Given the description of an element on the screen output the (x, y) to click on. 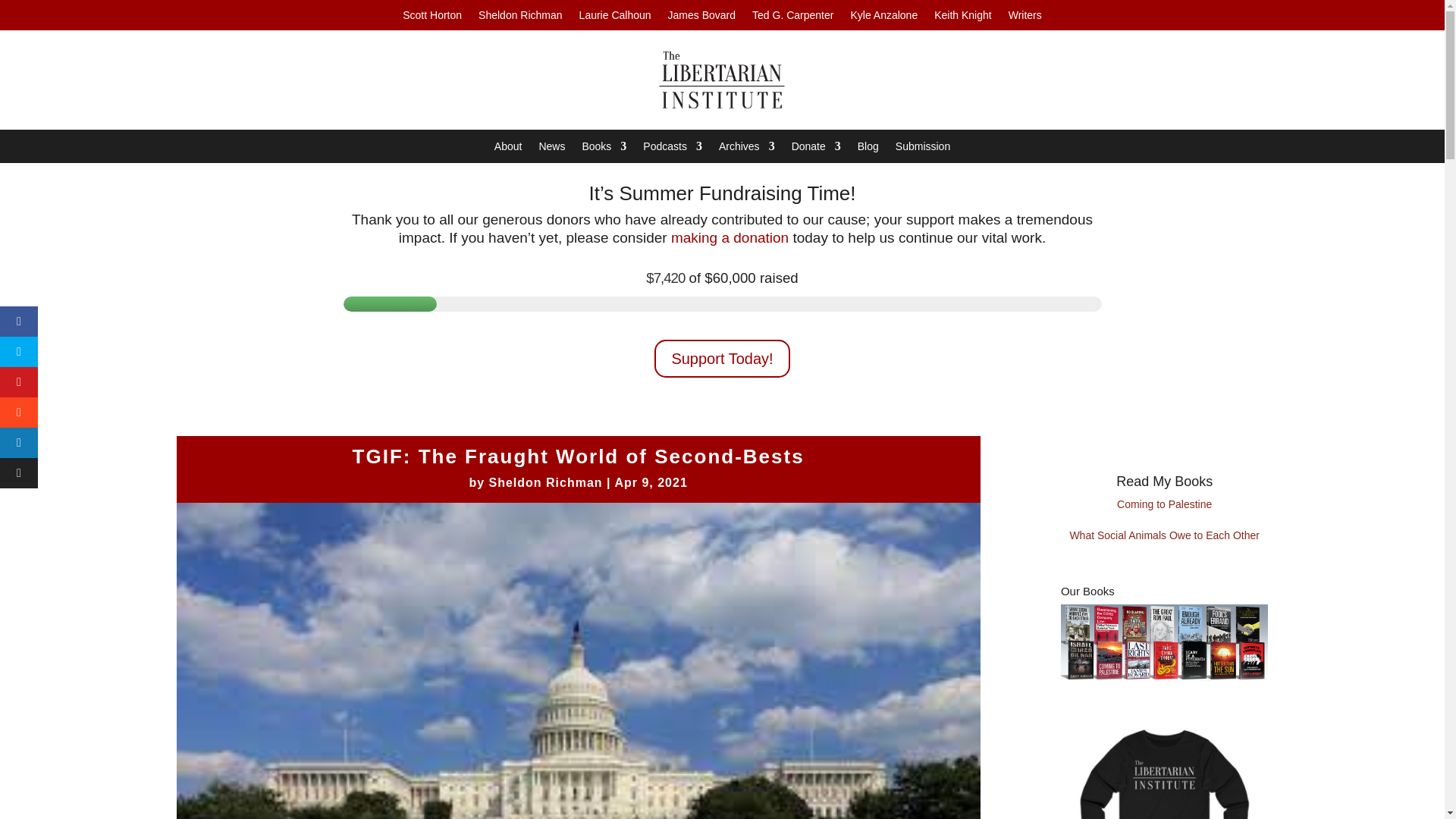
Writers (1025, 17)
Kyle Anzalone (883, 17)
Ted G. Carpenter (792, 17)
Podcasts (672, 149)
James Bovard (701, 17)
News (551, 149)
Keith Knight (962, 17)
Books (603, 149)
Scott Horton (432, 17)
Sheldon Richman (520, 17)
About (508, 149)
Laurie Calhoun (614, 17)
Posts by Sheldon Richman (544, 481)
institute newspaper logo sized (721, 79)
